Given the description of an element on the screen output the (x, y) to click on. 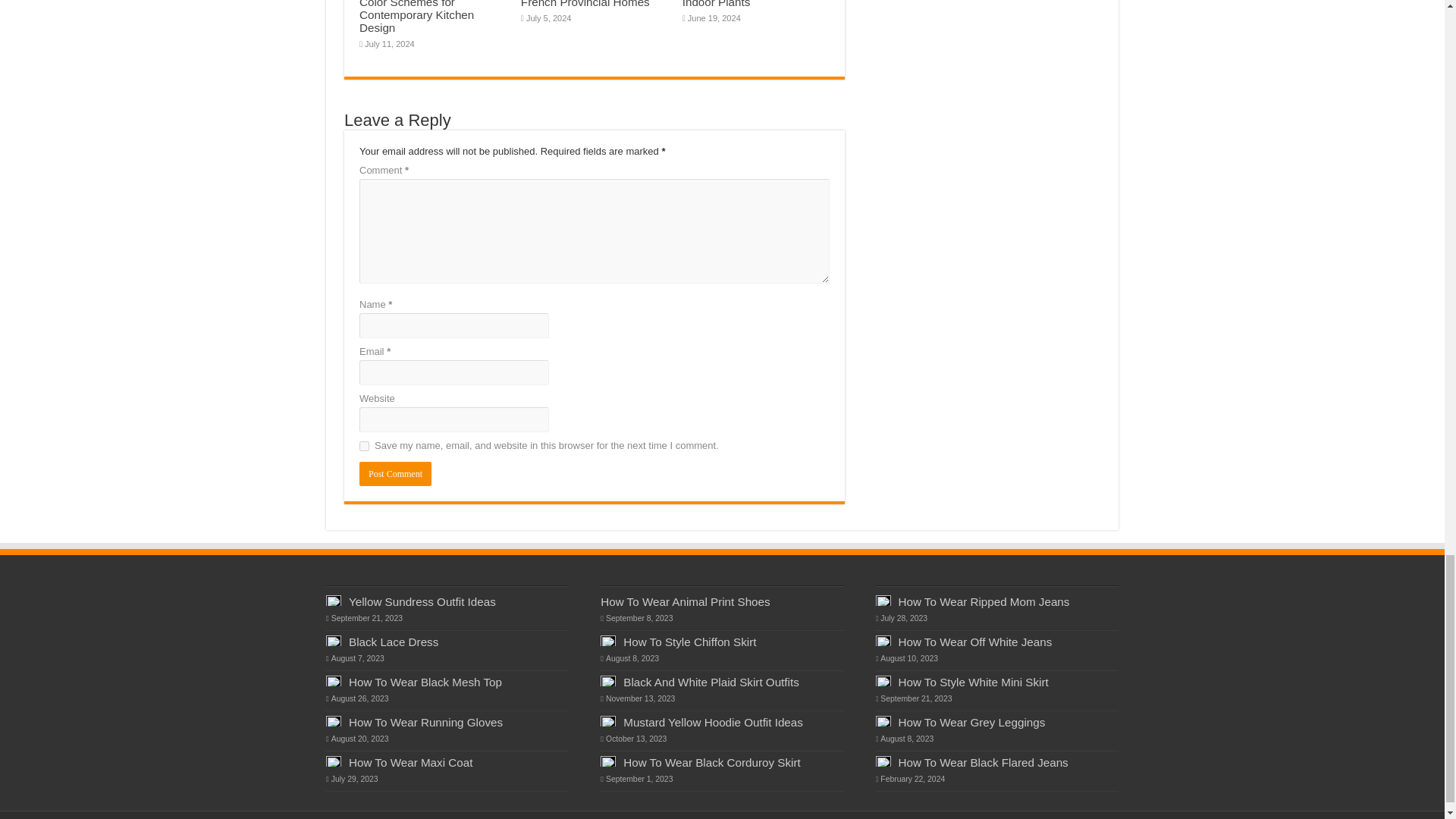
French Provincial Homes (585, 4)
Black Lace Dress (393, 641)
Post Comment (394, 473)
Indoor Plants (716, 4)
Color Schemes for Contemporary Kitchen Design (416, 17)
Post Comment (394, 473)
yes (364, 446)
Yellow Sundress Outfit Ideas (422, 601)
